Given the description of an element on the screen output the (x, y) to click on. 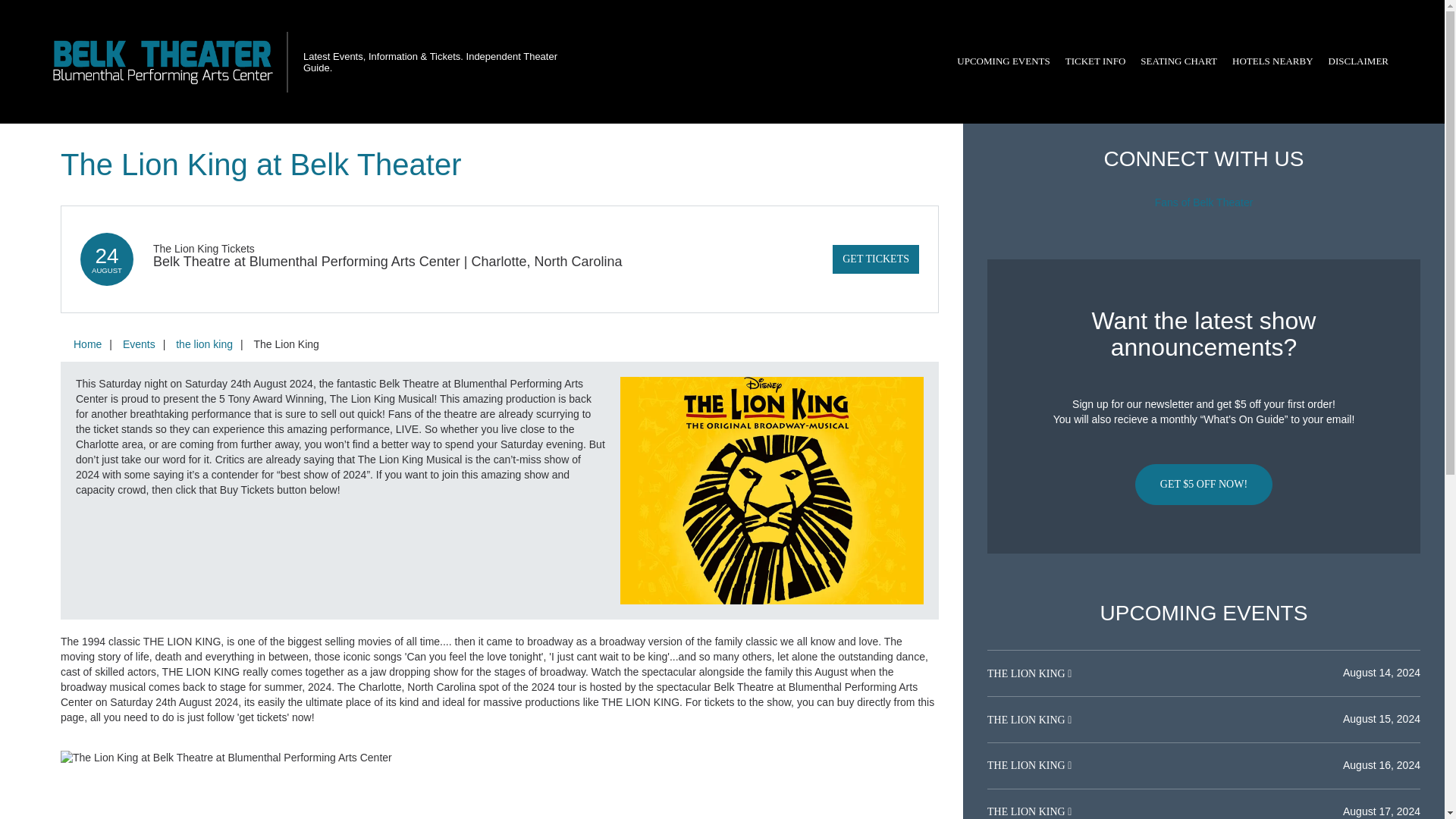
DISCLAIMER (1358, 61)
GET TICKETS (875, 258)
SEATING CHART (1178, 61)
THE LION KING (1027, 765)
HOTELS NEARBY (1272, 61)
the lion king (204, 344)
The Lion King Tickets (203, 248)
Fans of Belk Theater (1203, 202)
THE LION KING (1027, 811)
THE LION KING (1027, 719)
